Given the description of an element on the screen output the (x, y) to click on. 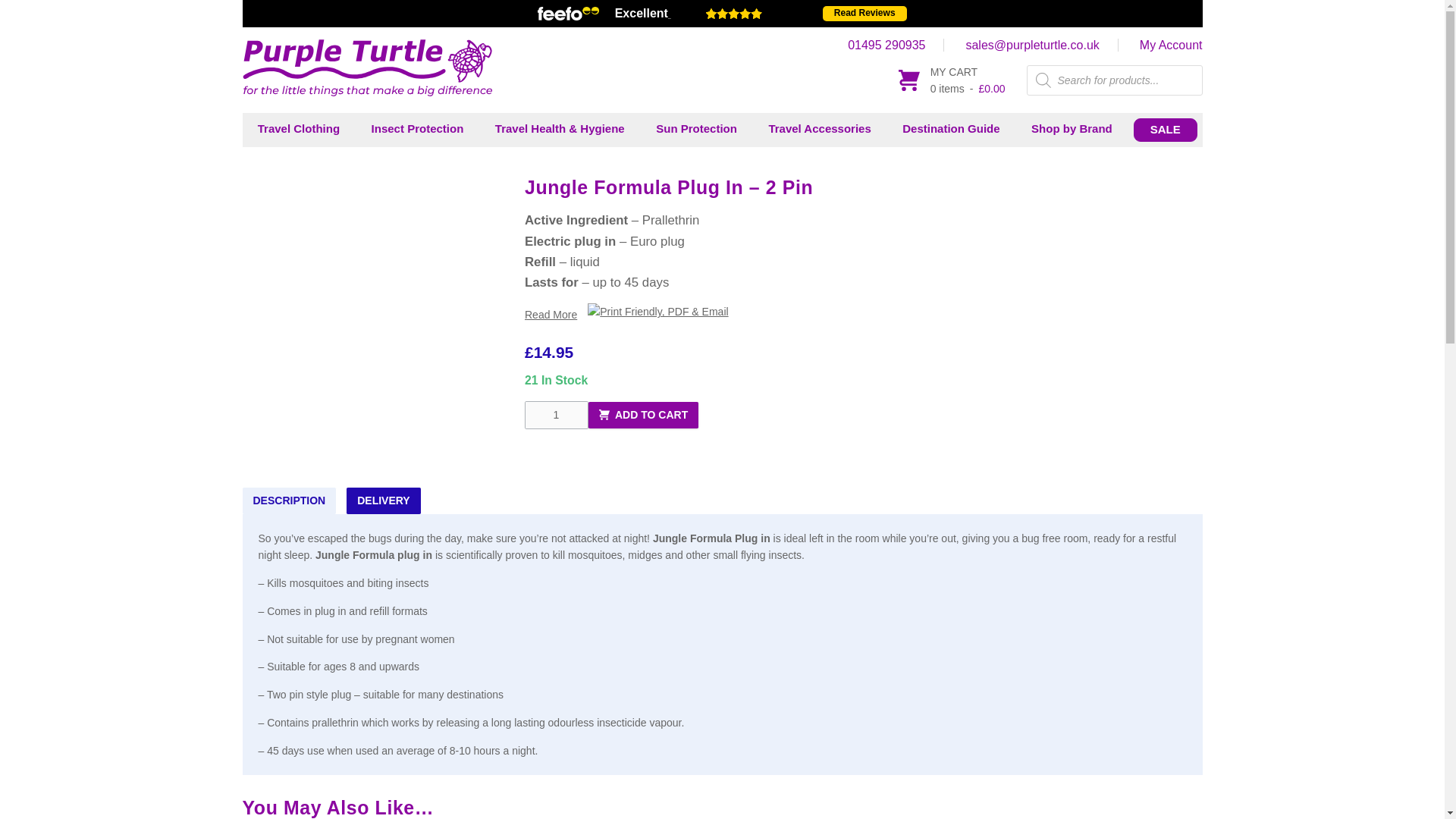
1 (556, 415)
Excellent (718, 13)
Travel Clothing (299, 128)
Insect Protection (417, 128)
My Account (1170, 44)
01495 290935 (896, 44)
Our customer Feefo rating (780, 12)
Read Reviews (864, 13)
